Given the description of an element on the screen output the (x, y) to click on. 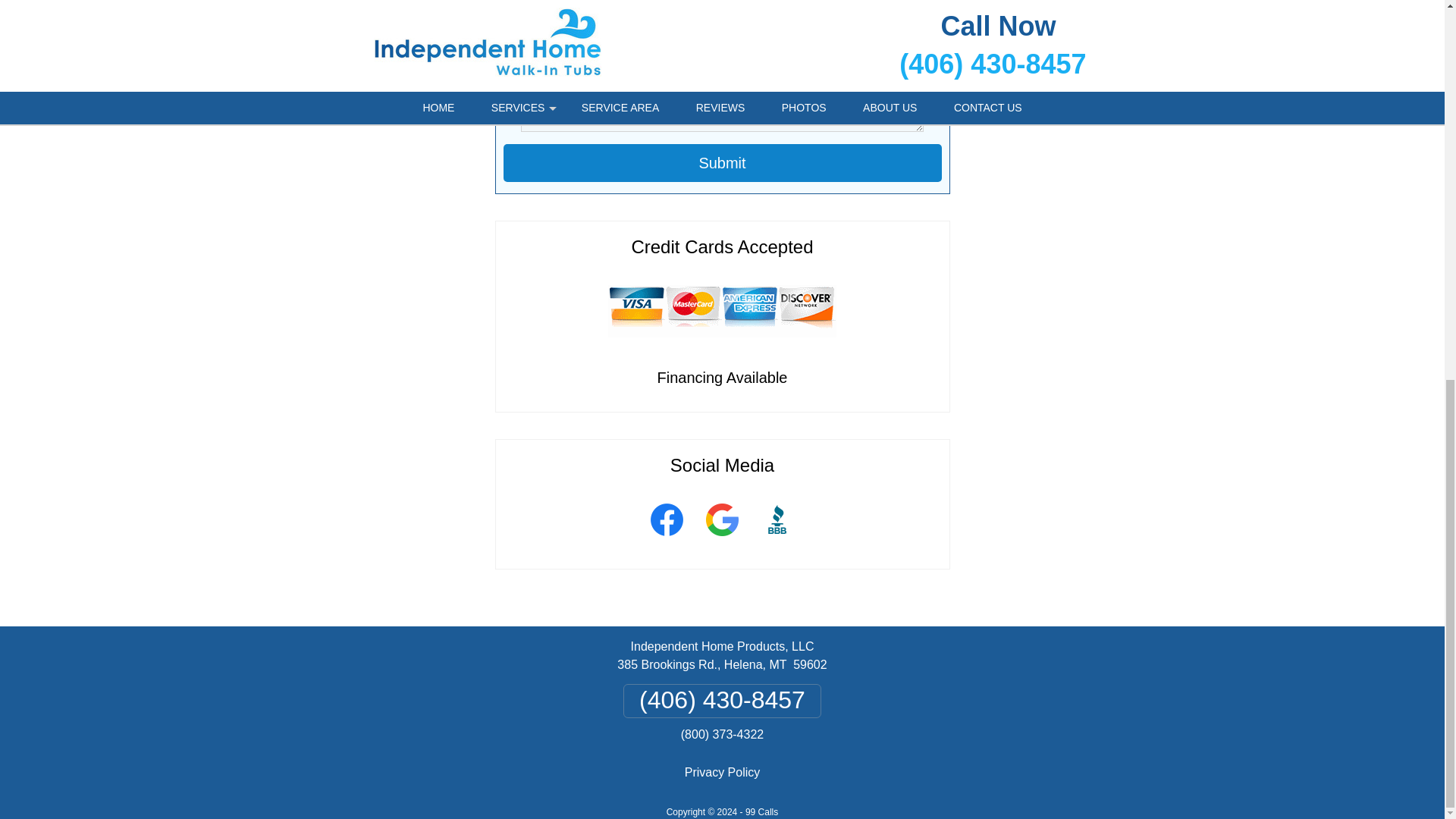
Better Business Bureau (777, 541)
Google (721, 541)
Submit (722, 162)
Facebook (666, 541)
Privacy Policy (722, 771)
